Given the description of an element on the screen output the (x, y) to click on. 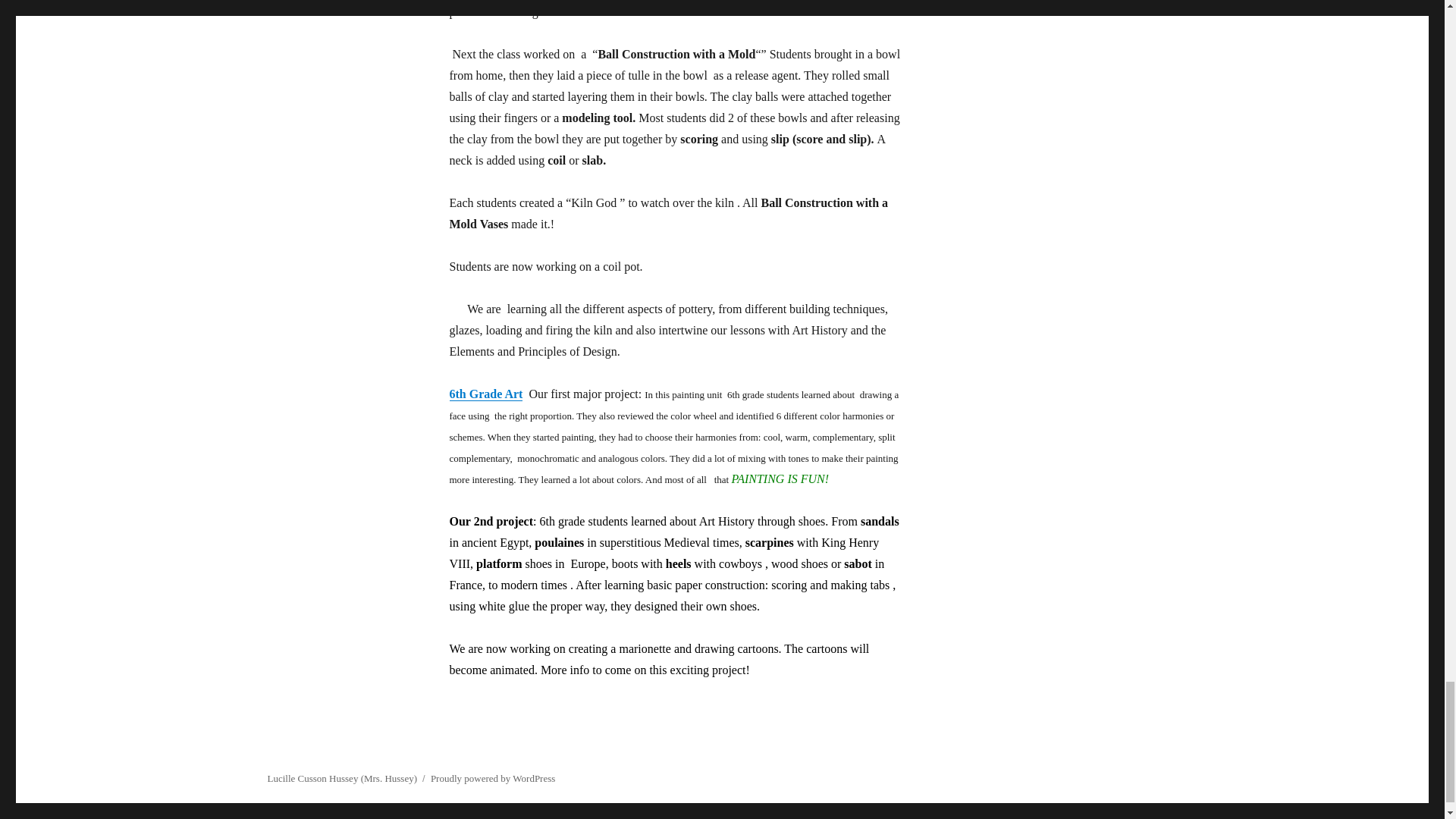
6th Grade Art (485, 393)
